Given the description of an element on the screen output the (x, y) to click on. 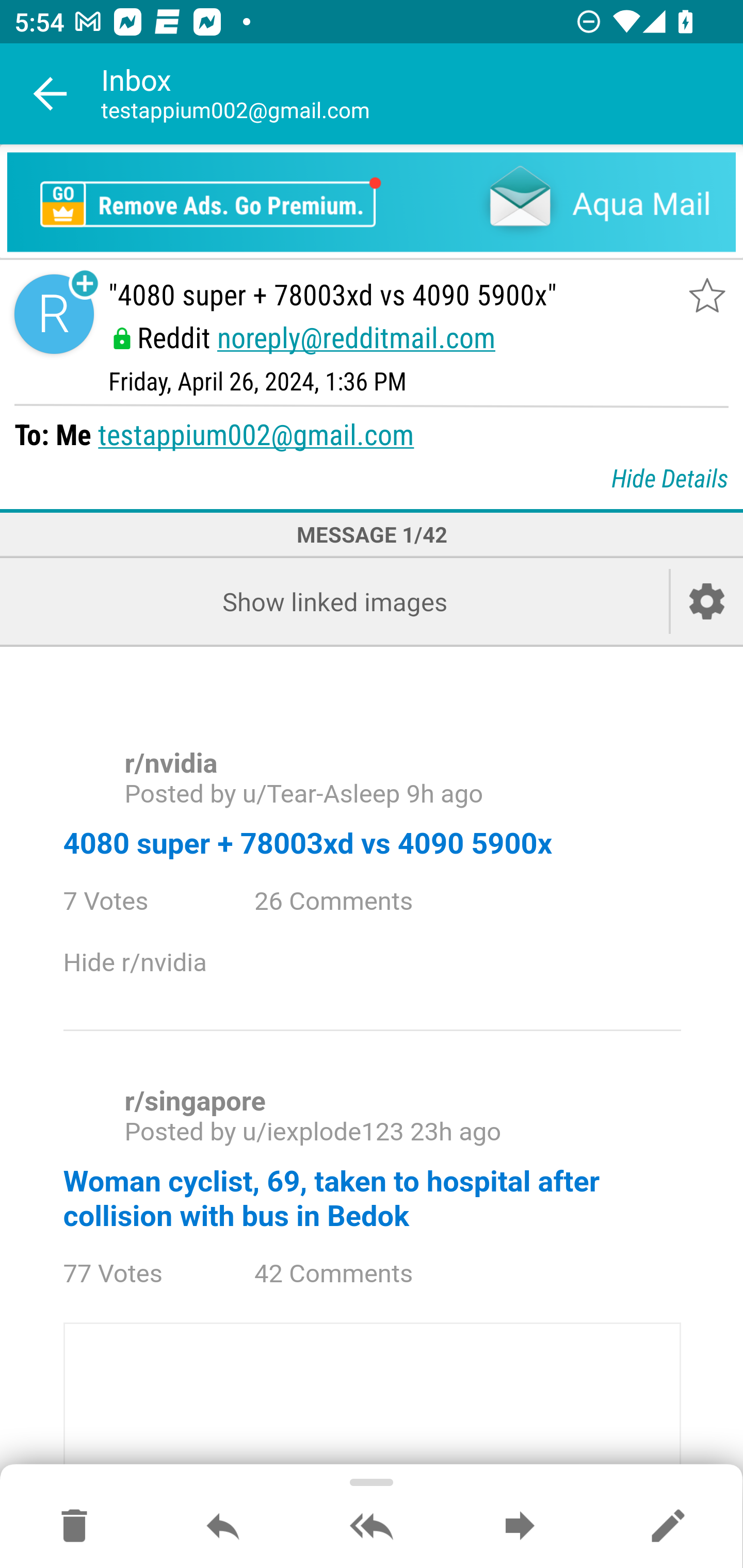
Navigate up (50, 93)
Inbox testappium002@gmail.com (422, 93)
Sender contact button (53, 314)
Show linked images (334, 601)
Account setup (706, 601)
Move to Deleted (74, 1527)
Reply (222, 1527)
Reply all (371, 1527)
Forward (519, 1527)
Reply as new (667, 1527)
